Given the description of an element on the screen output the (x, y) to click on. 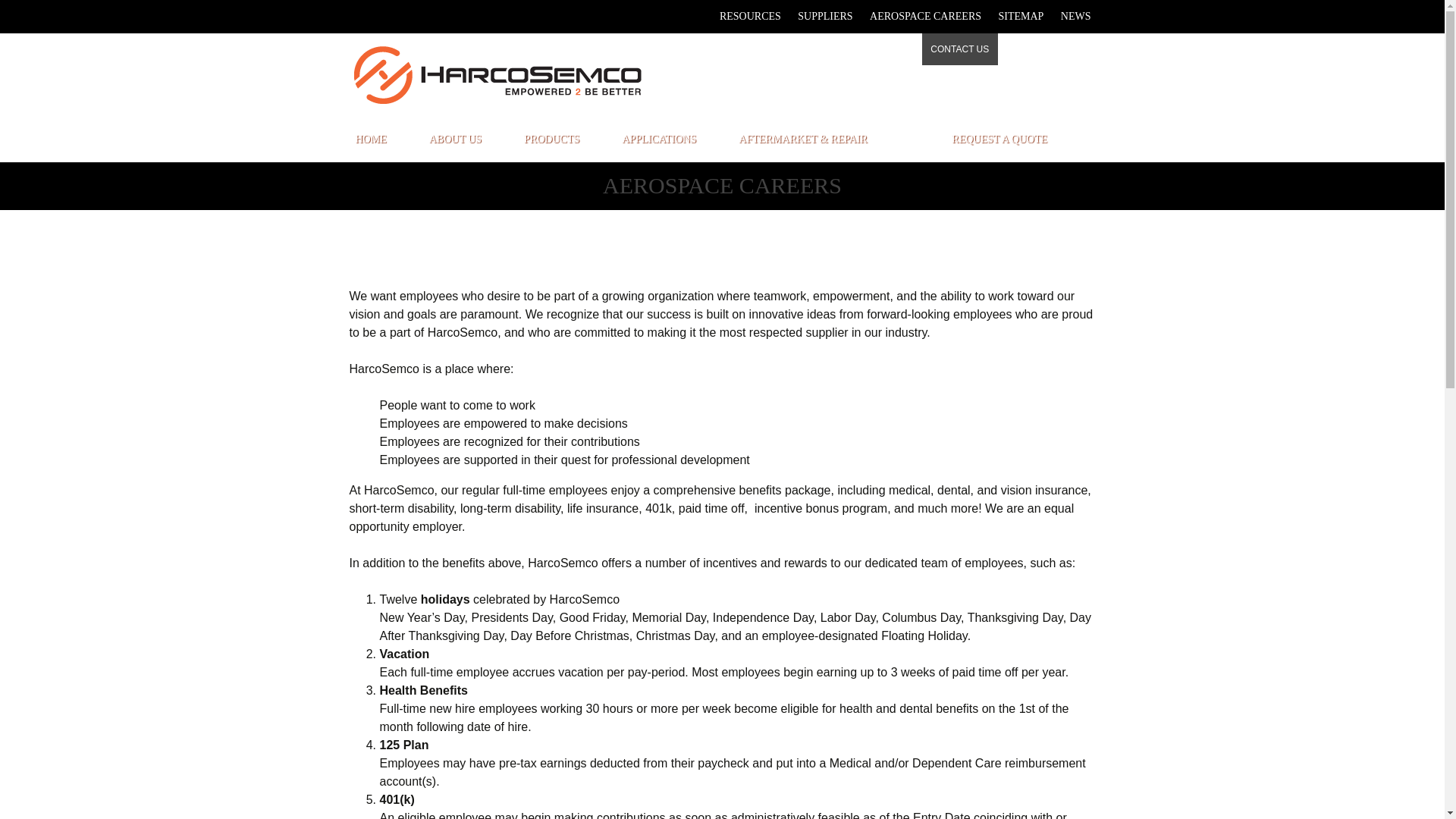
IN (1023, 49)
AEROSPACE CAREERS (925, 16)
APPLICATIONS (658, 139)
PRODUCTS (550, 139)
RESOURCES (749, 16)
ABOUT US (454, 139)
CONTACT US (959, 49)
HOME (370, 139)
REQUEST A QUOTE (999, 139)
SEARCH (1069, 49)
